Given the description of an element on the screen output the (x, y) to click on. 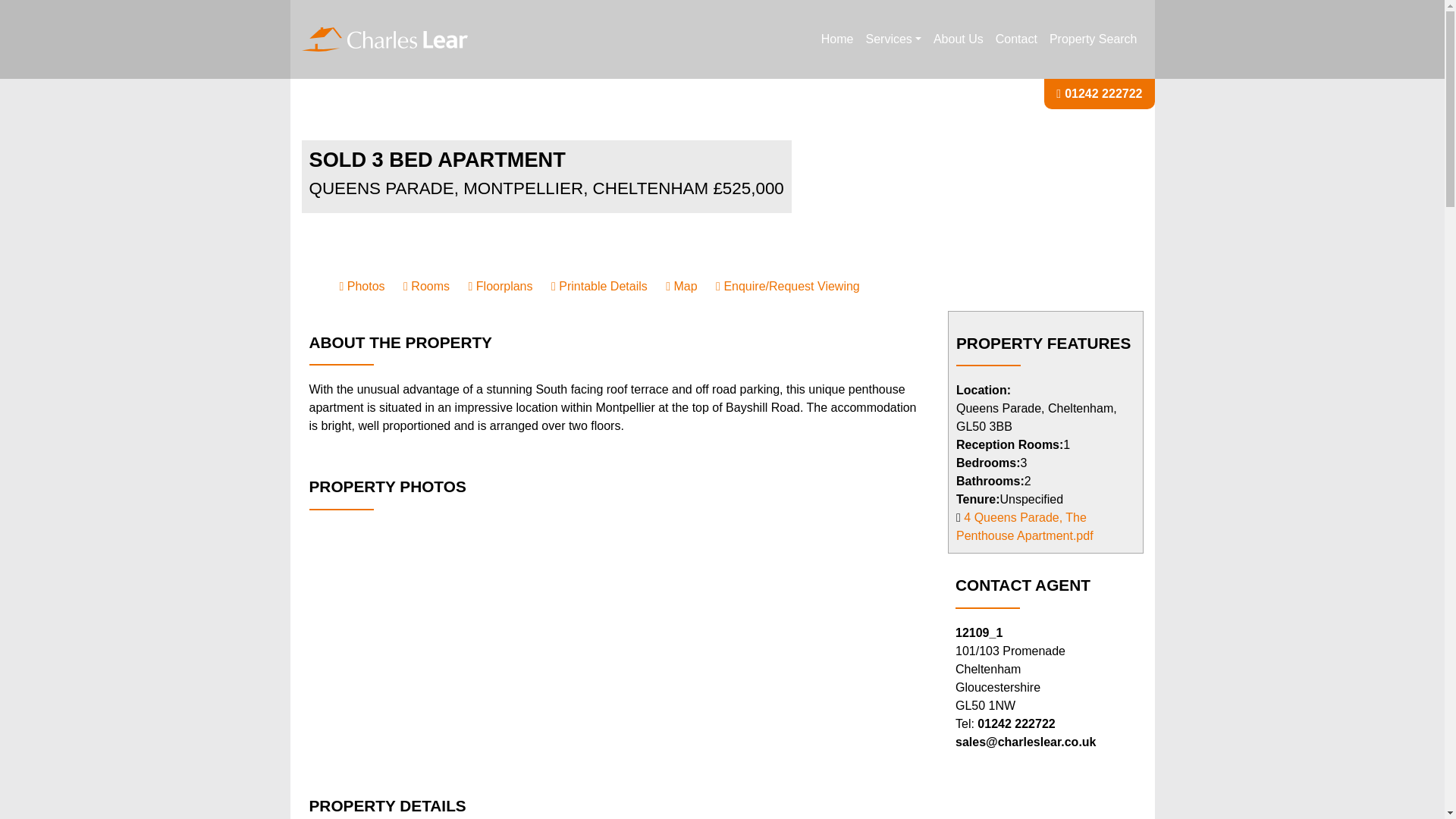
Photos (362, 286)
4 Queens Parade, The Penthouse Apartment.pdf (1024, 526)
Floorplans (500, 286)
01242 222722 (1102, 93)
About Us (958, 39)
Rooms (426, 286)
Printable Details (599, 286)
Printable Details (599, 286)
Floorplans (500, 286)
Map (681, 286)
